Given the description of an element on the screen output the (x, y) to click on. 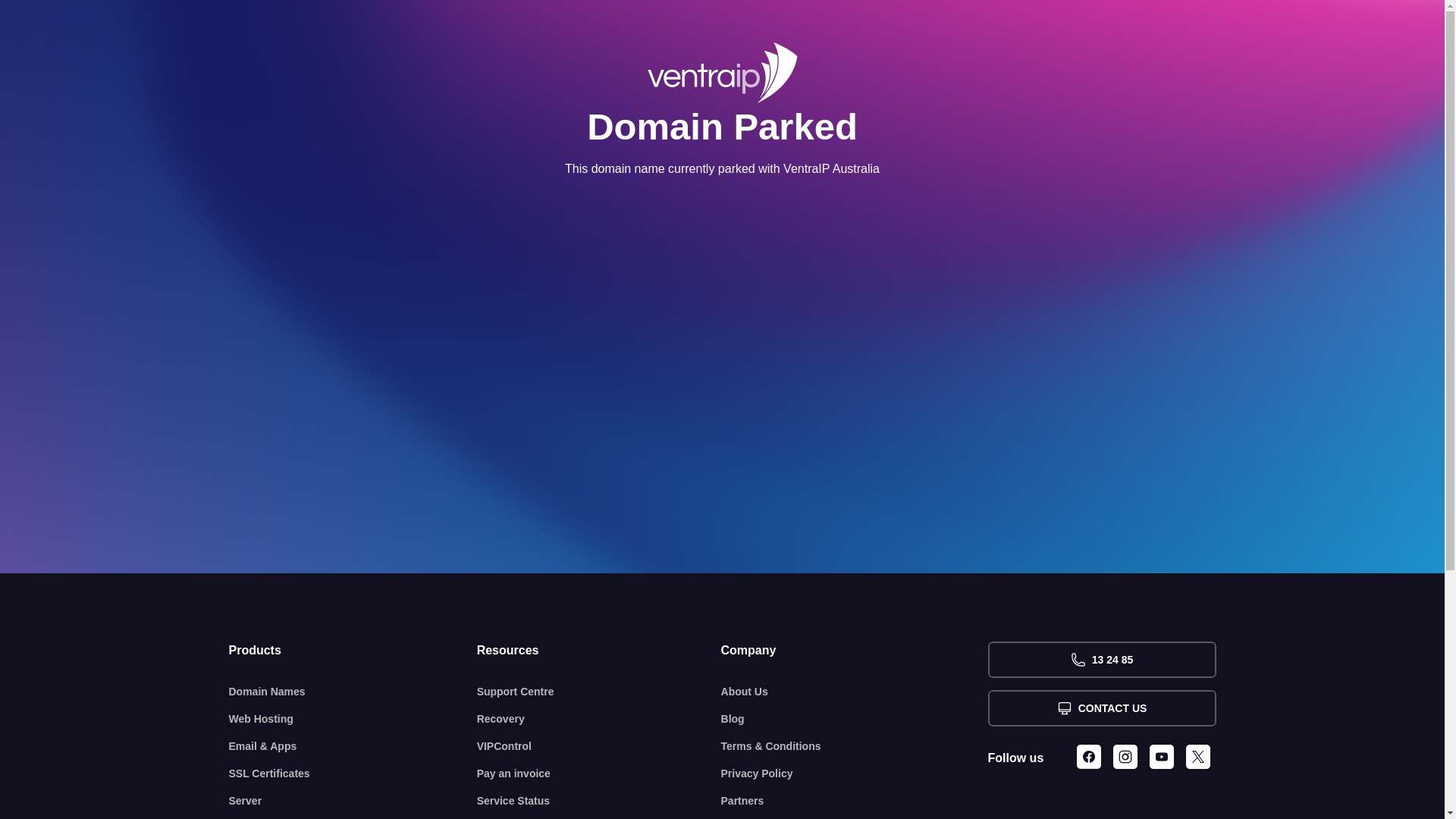
Pay an invoice Element type: text (598, 773)
VIPControl Element type: text (598, 745)
Recovery Element type: text (598, 718)
Server Element type: text (352, 800)
About Us Element type: text (854, 691)
Web Hosting Element type: text (352, 718)
Support Centre Element type: text (598, 691)
SSL Certificates Element type: text (352, 773)
Email & Apps Element type: text (352, 745)
Blog Element type: text (854, 718)
Service Status Element type: text (598, 800)
13 24 85 Element type: text (1101, 659)
Domain Names Element type: text (352, 691)
CONTACT US Element type: text (1101, 708)
Privacy Policy Element type: text (854, 773)
Terms & Conditions Element type: text (854, 745)
Partners Element type: text (854, 800)
